Given the description of an element on the screen output the (x, y) to click on. 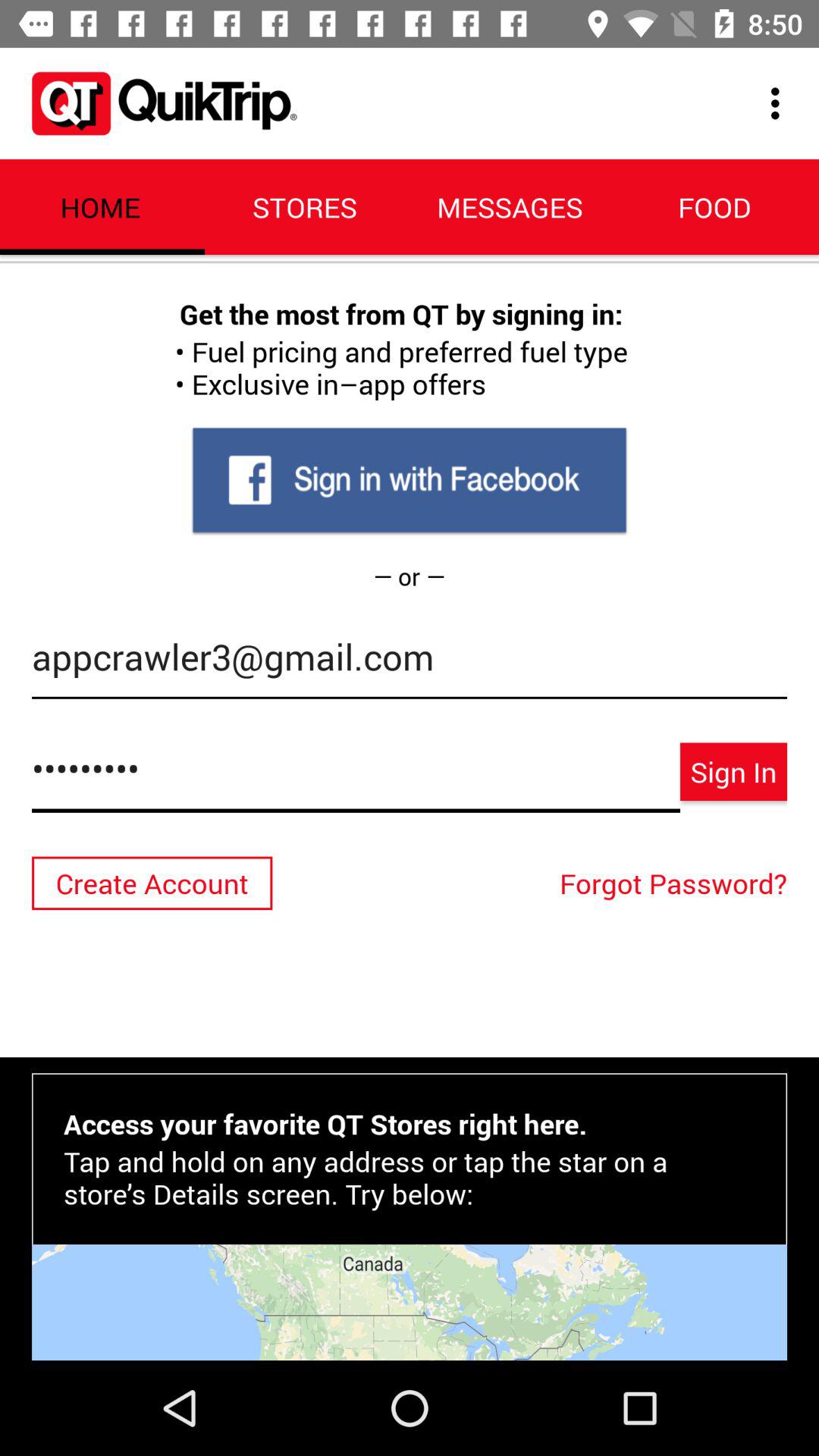
turn off crowd3116 icon (355, 776)
